Given the description of an element on the screen output the (x, y) to click on. 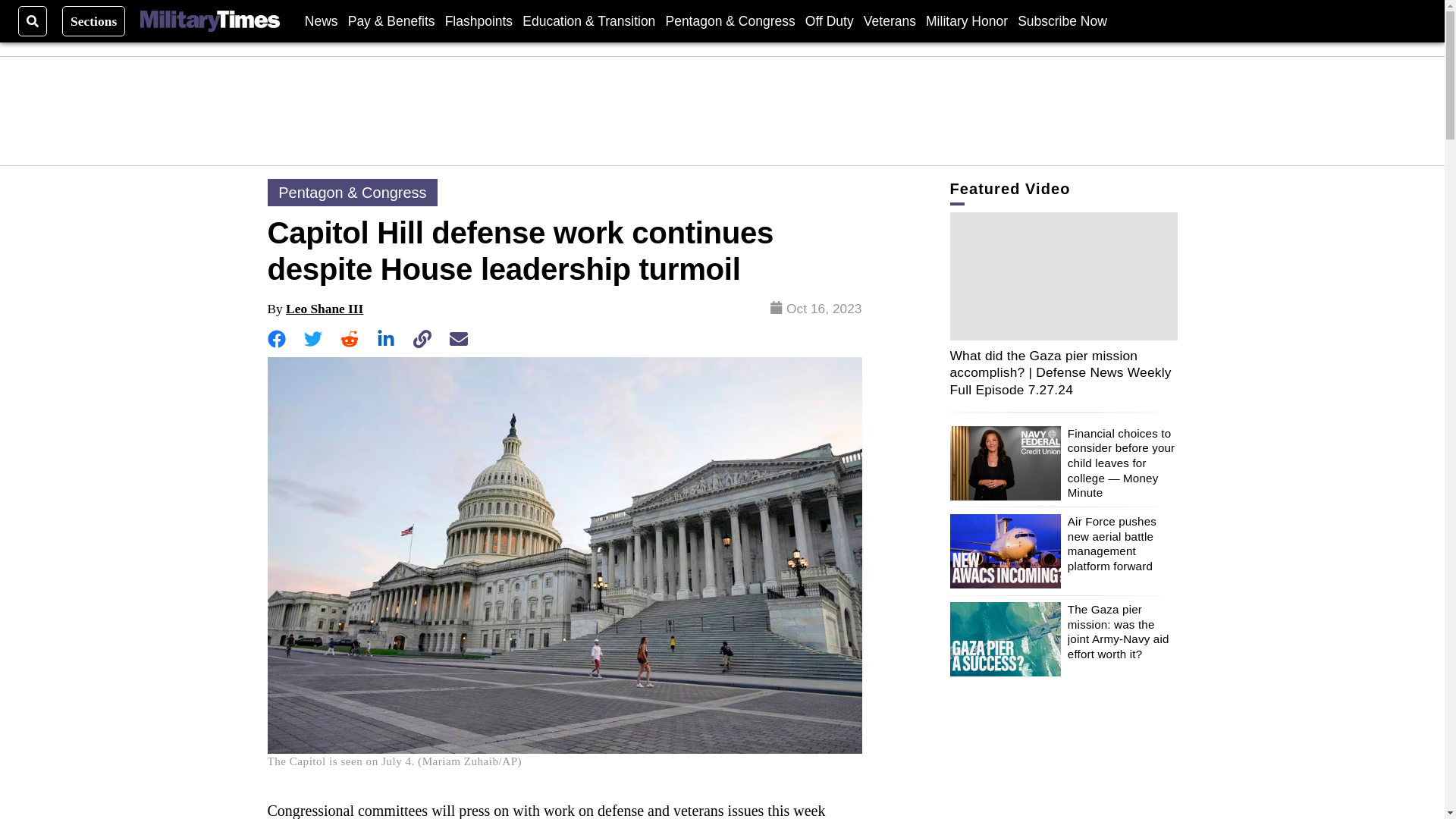
Sections (93, 20)
Military Times Logo (209, 20)
Flashpoints (479, 20)
Off Duty (829, 20)
News (320, 20)
Military Honor (966, 20)
Veterans (889, 20)
